Given the description of an element on the screen output the (x, y) to click on. 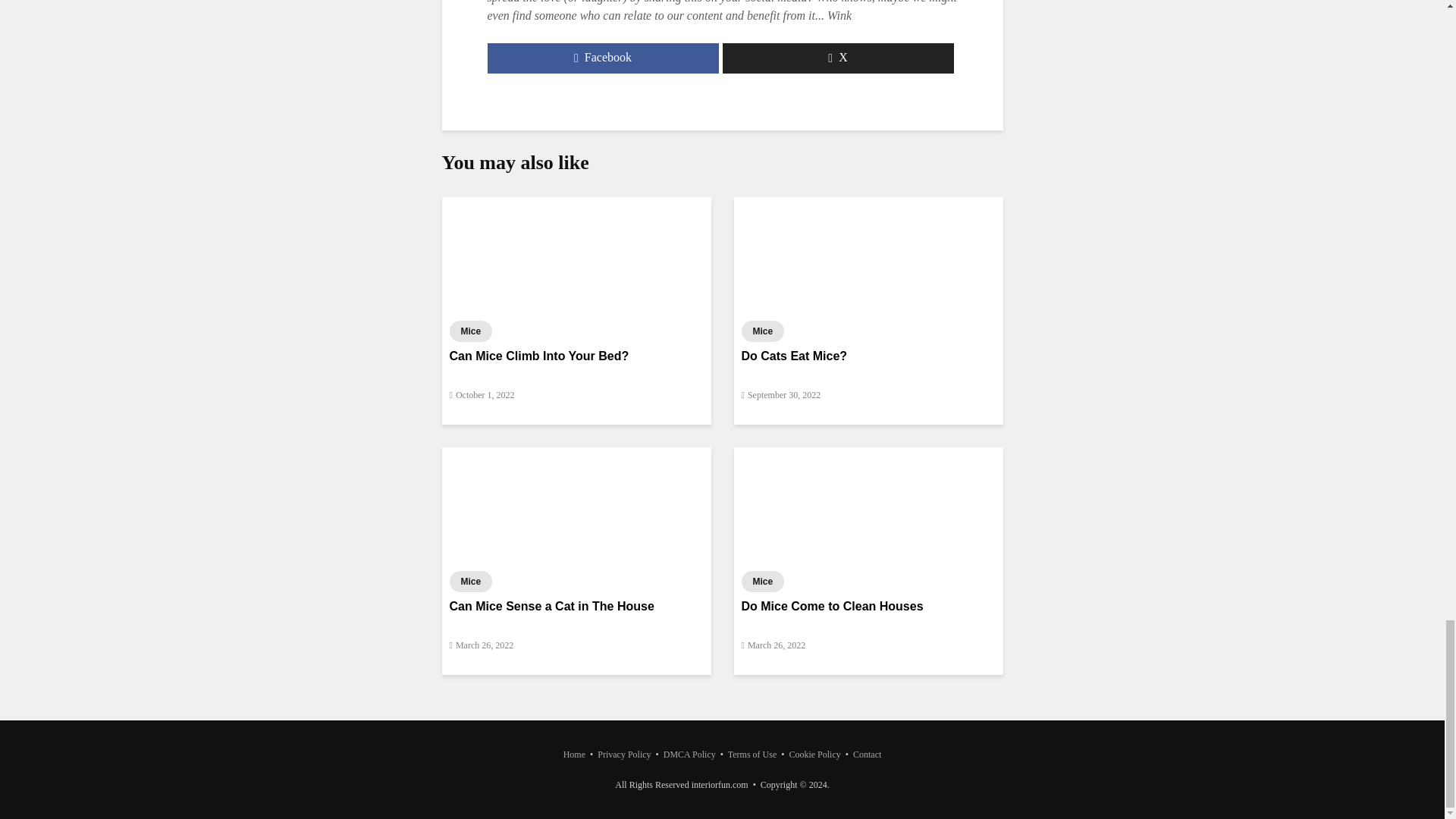
Do Cats Eat Mice? (868, 254)
Can Mice Sense a Cat in The House (575, 504)
Can Mice Climb Into Your Bed? (575, 254)
Do Mice Come to Clean Houses (868, 504)
